Given the description of an element on the screen output the (x, y) to click on. 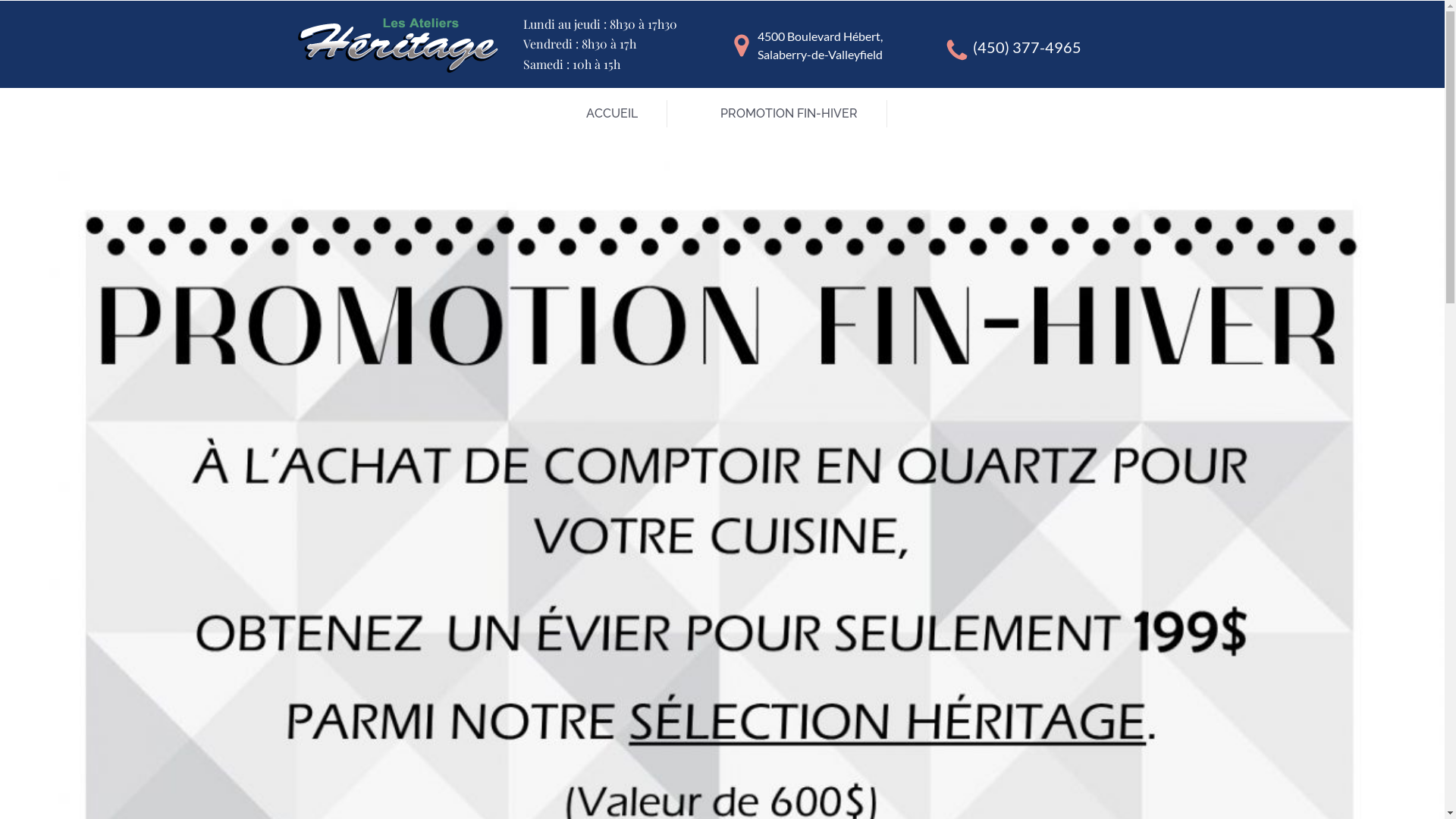
logo Element type: hover (397, 45)
PROMOTION FIN-HIVER Element type: text (788, 113)
ACCUEIL Element type: text (611, 113)
(450) 377-4965 Element type: text (1026, 46)
